Given the description of an element on the screen output the (x, y) to click on. 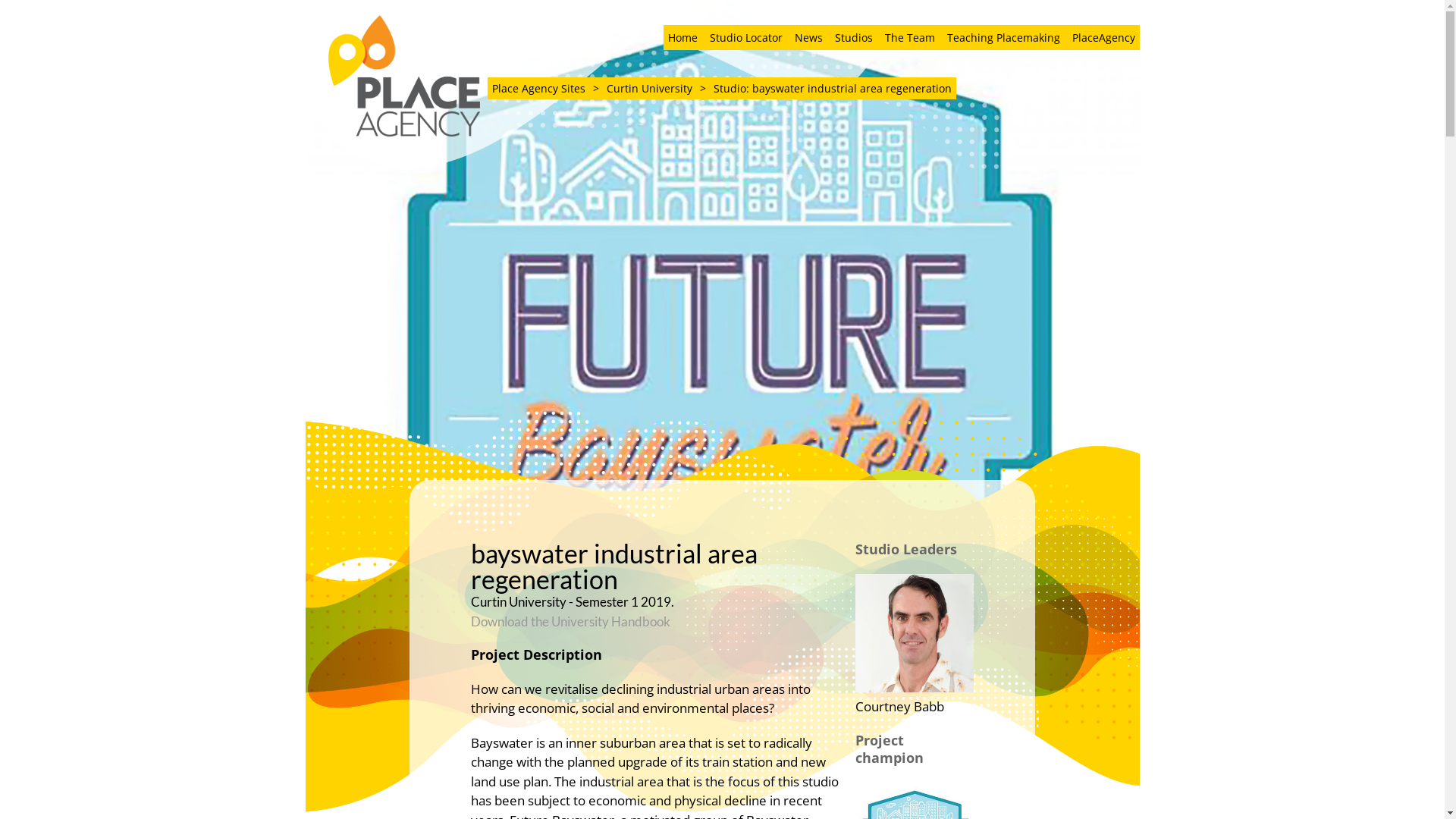
PlaceAgency Element type: text (1103, 37)
Download the University Handbook Element type: text (570, 621)
Curtin University Element type: text (649, 88)
Studio Locator Element type: text (746, 37)
Teaching Placemaking Element type: text (1002, 37)
Studios Element type: text (852, 37)
News Element type: text (808, 37)
Place Agency Sites Element type: text (537, 88)
Home Element type: text (681, 37)
The Team Element type: text (908, 37)
